Given the description of an element on the screen output the (x, y) to click on. 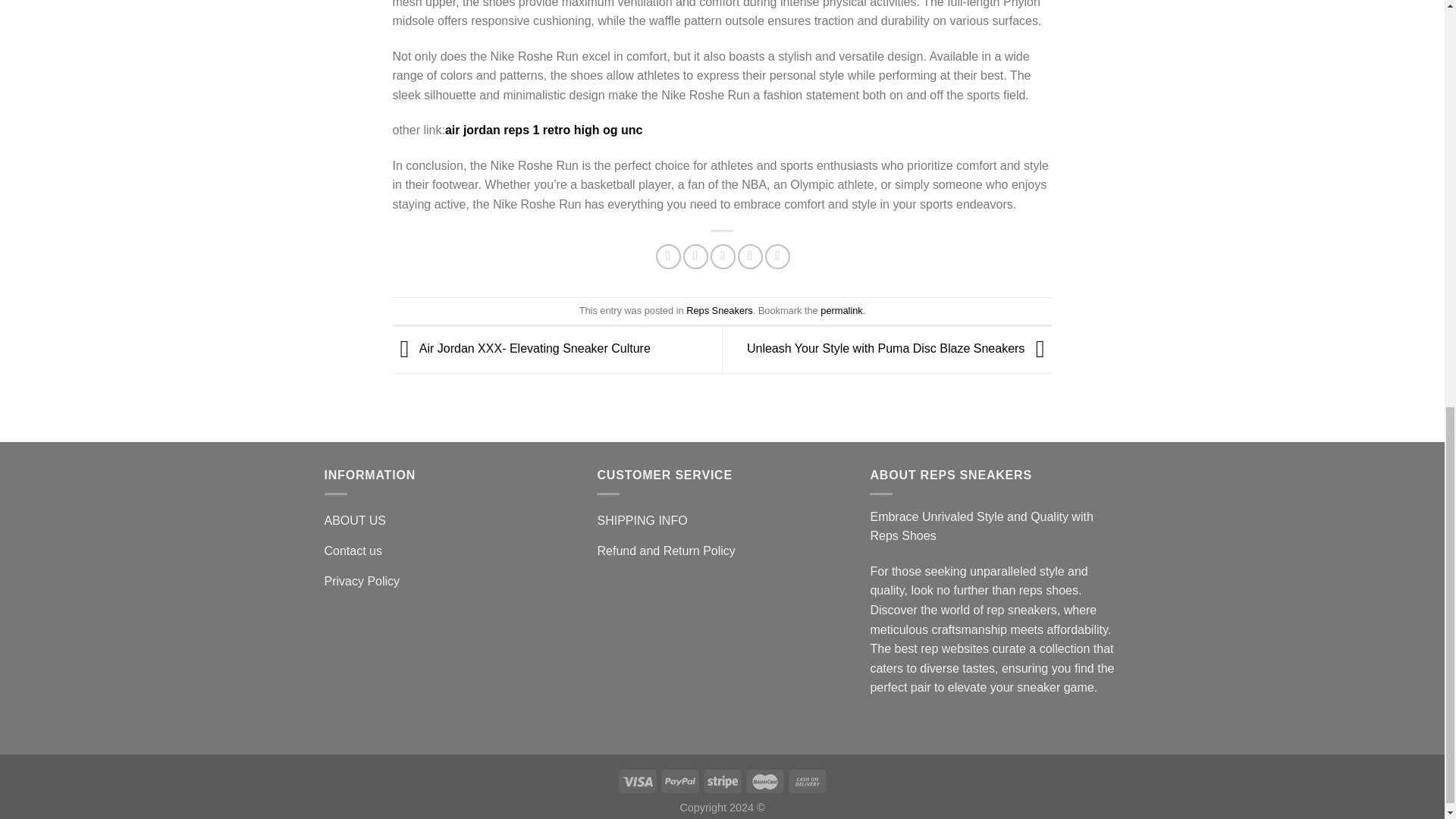
Permalink to Embrace Comfort and Style with Nike Roshe Run (841, 310)
Pin on Pinterest (750, 256)
Share on Facebook (668, 256)
Share on LinkedIn (777, 256)
Email to a Friend (722, 256)
Share on Twitter (694, 256)
